Given the description of an element on the screen output the (x, y) to click on. 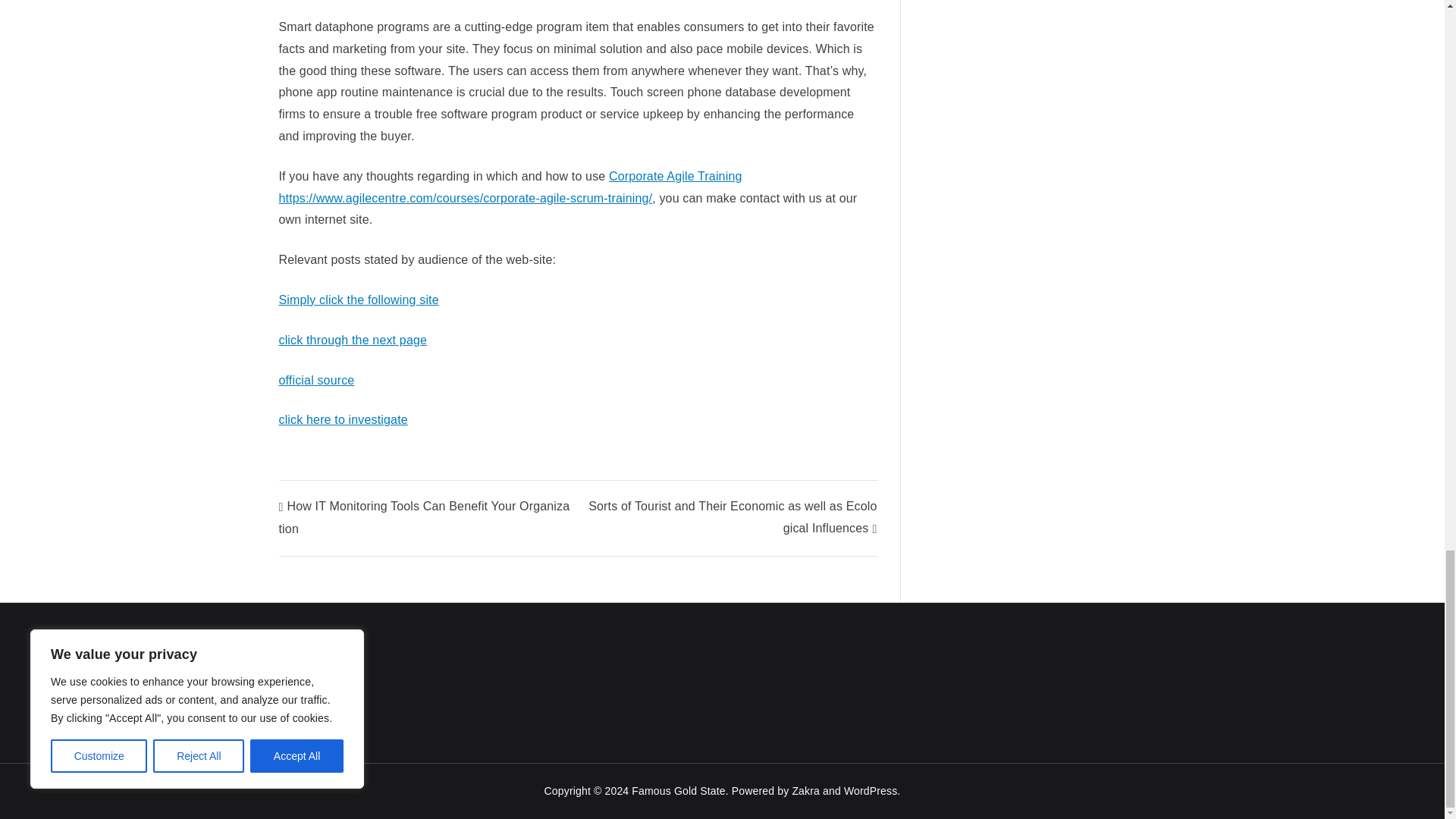
click here to investigate (343, 419)
How IT Monitoring Tools Can Benefit Your Organization (424, 517)
click through the next page (353, 339)
Simply click the following site (359, 299)
official source (317, 379)
WordPress (870, 790)
Famous Gold State (678, 790)
Zakra (805, 790)
